Given the description of an element on the screen output the (x, y) to click on. 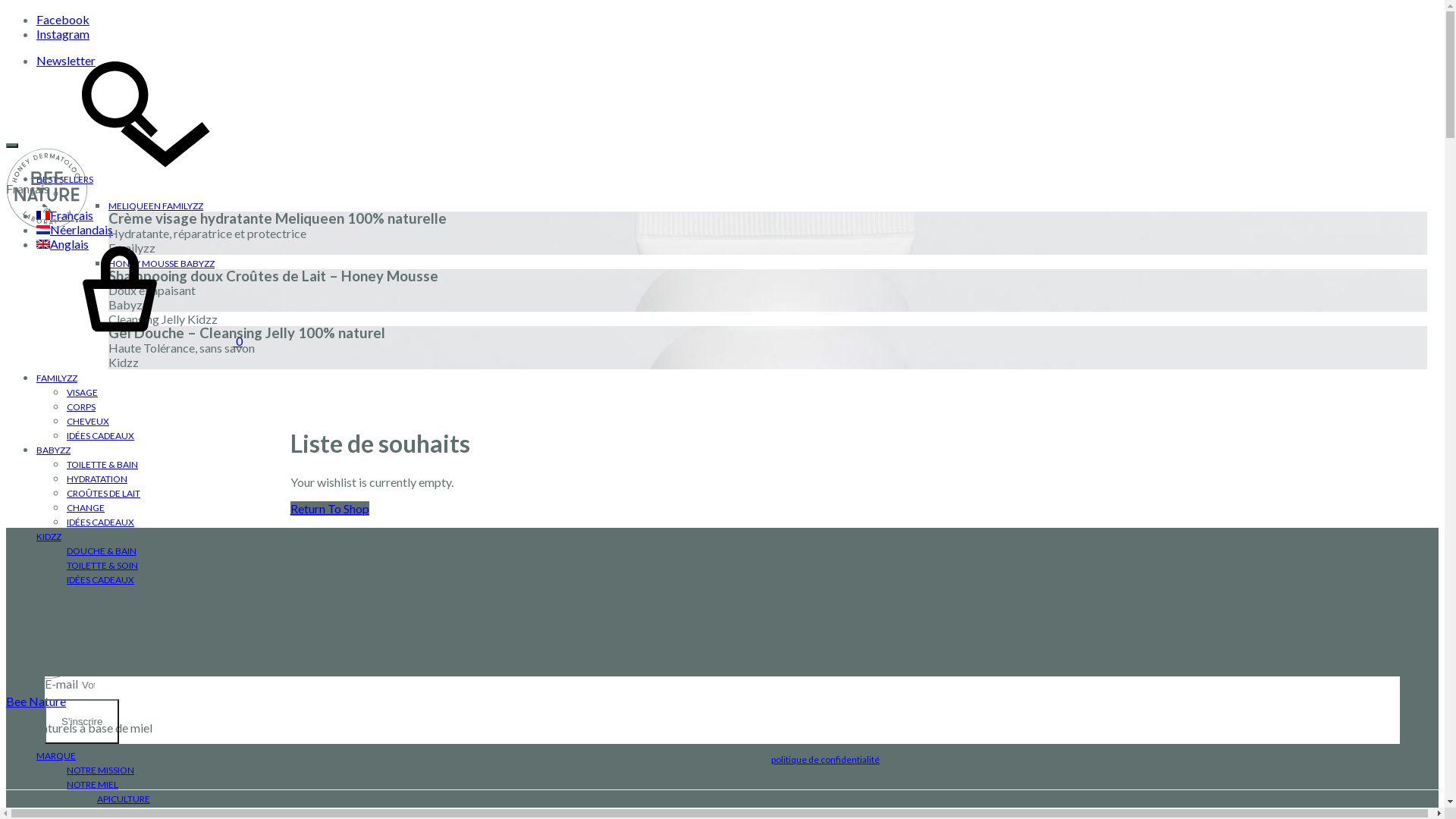
HYDRATATION Element type: text (96, 478)
DOUCHE & BAIN Element type: text (101, 550)
APICULTURE Element type: text (123, 798)
Instagram Element type: text (62, 33)
CHANGE Element type: text (85, 507)
MELIQUEEN FAMILYZZ Element type: text (155, 205)
CORPS Element type: text (80, 406)
Facebook Element type: text (62, 19)
MARQUE Element type: text (55, 755)
BABYZZ Element type: text (53, 449)
VISAGE Element type: text (81, 392)
Newsletter Element type: text (65, 60)
Cart
0 Element type: text (124, 340)
S'inscrire Element type: text (81, 721)
TOILETTE & SOIN Element type: text (102, 565)
KIDZZ Element type: text (48, 536)
Return To Shop Element type: text (328, 508)
CHEVEUX Element type: text (87, 420)
FAMILYZZ Element type: text (56, 377)
Bee Nature Element type: text (35, 700)
NOTRE MISSION Element type: text (100, 769)
Anglais Element type: text (62, 243)
HONEY MOUSSE BABYZZ Element type: text (161, 263)
TOILETTE & BAIN Element type: text (102, 464)
NOTRE MIEL Element type: text (92, 784)
BEST SELLERS Element type: text (64, 179)
